Given the description of an element on the screen output the (x, y) to click on. 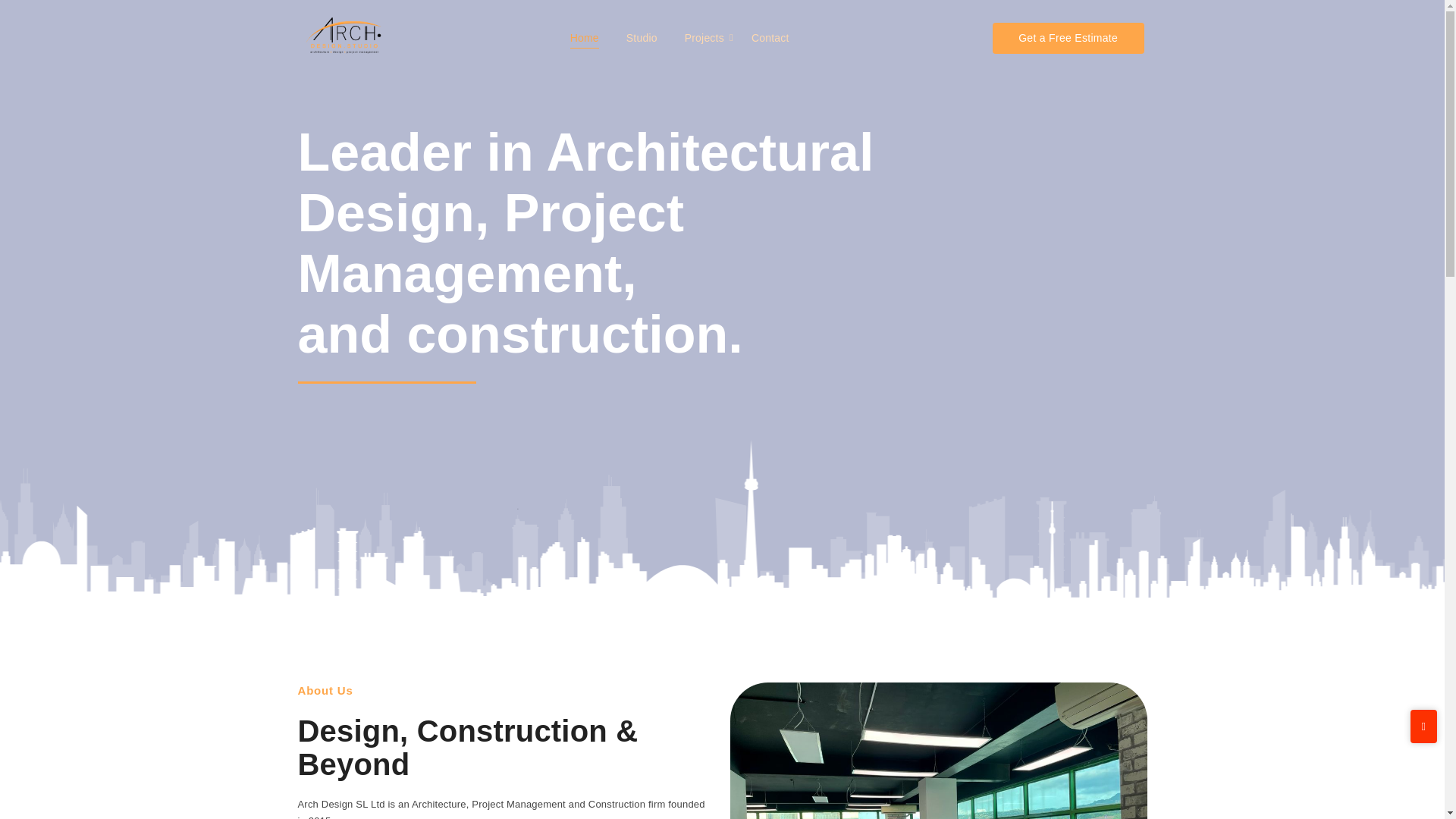
Get a Free Estimate (1068, 38)
Projects (704, 37)
Home (584, 37)
Contact (769, 37)
Studio (641, 37)
